Given the description of an element on the screen output the (x, y) to click on. 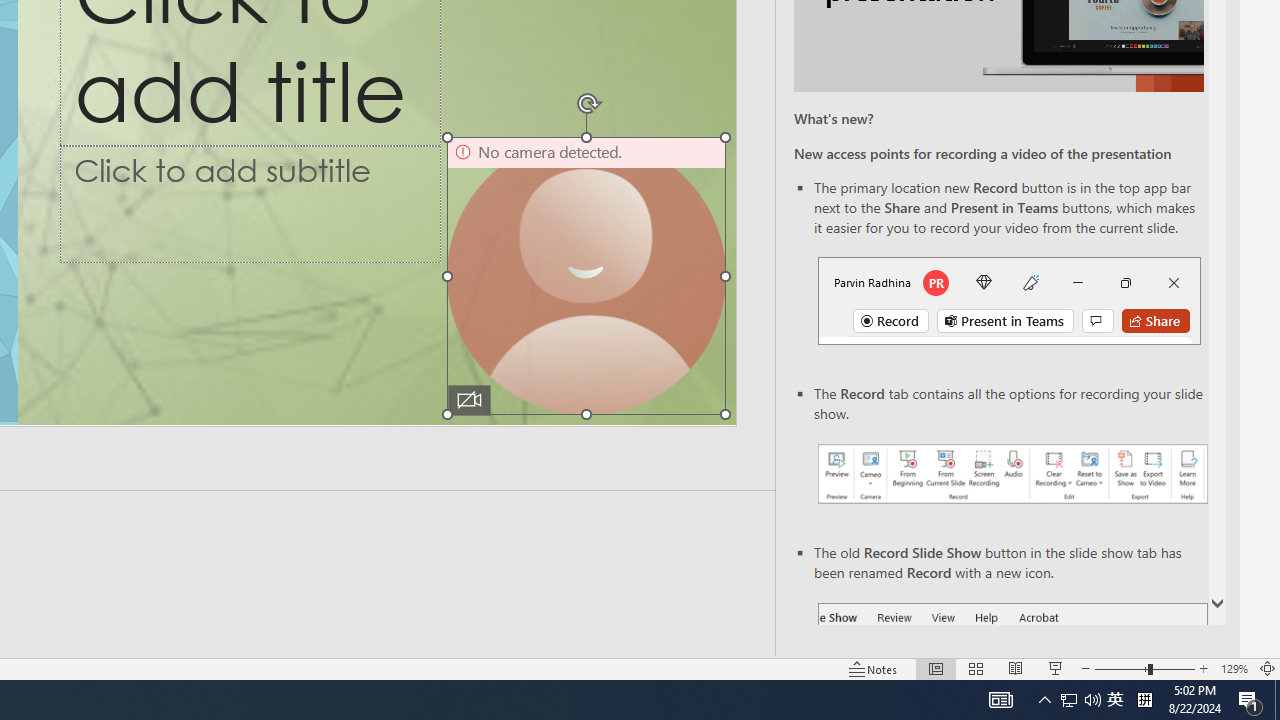
Record button in top bar (1008, 300)
Record your presentations screenshot one (1012, 473)
Camera 9, No camera detected. (586, 275)
Zoom 129% (1234, 668)
